Given the description of an element on the screen output the (x, y) to click on. 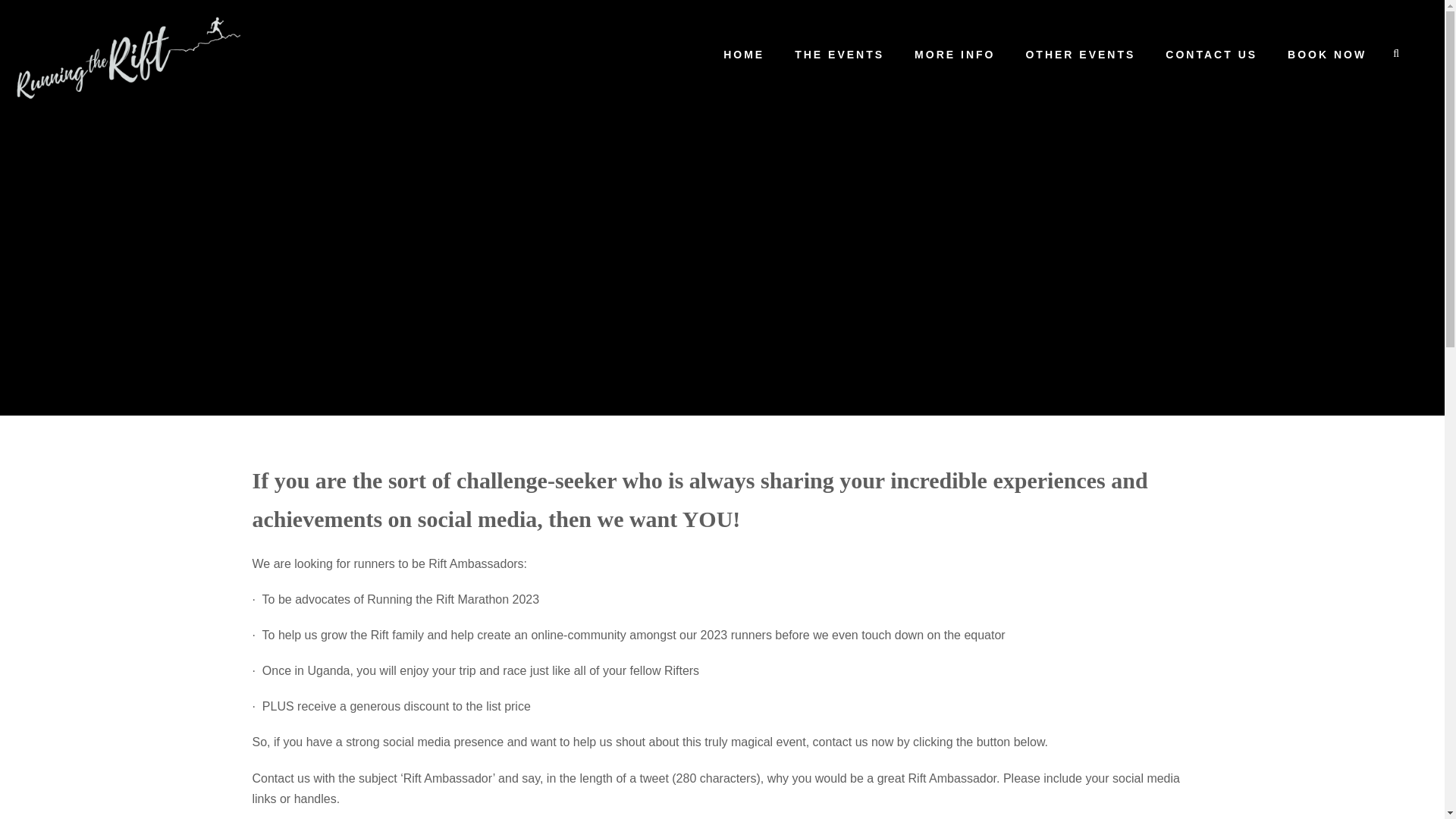
THE EVENTS (838, 61)
HOME (743, 61)
BOOK NOW (1327, 61)
OTHER EVENTS (1080, 61)
CONTACT US (1211, 61)
MORE INFO (954, 61)
